Given the description of an element on the screen output the (x, y) to click on. 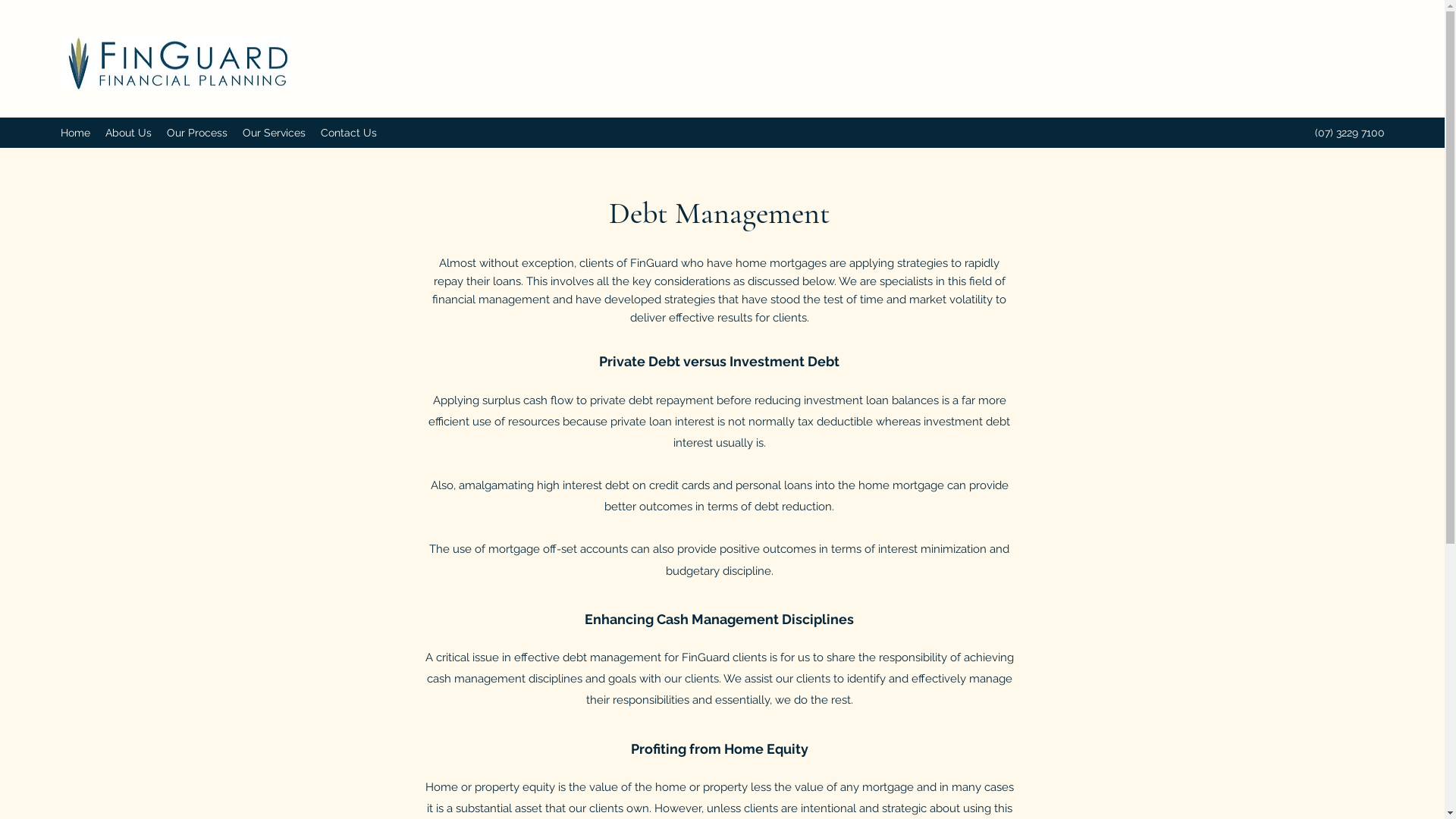
Home Element type: text (75, 132)
About Us Element type: text (128, 132)
Our Process Element type: text (197, 132)
Our Services Element type: text (274, 132)
Contact Us Element type: text (348, 132)
